Given the description of an element on the screen output the (x, y) to click on. 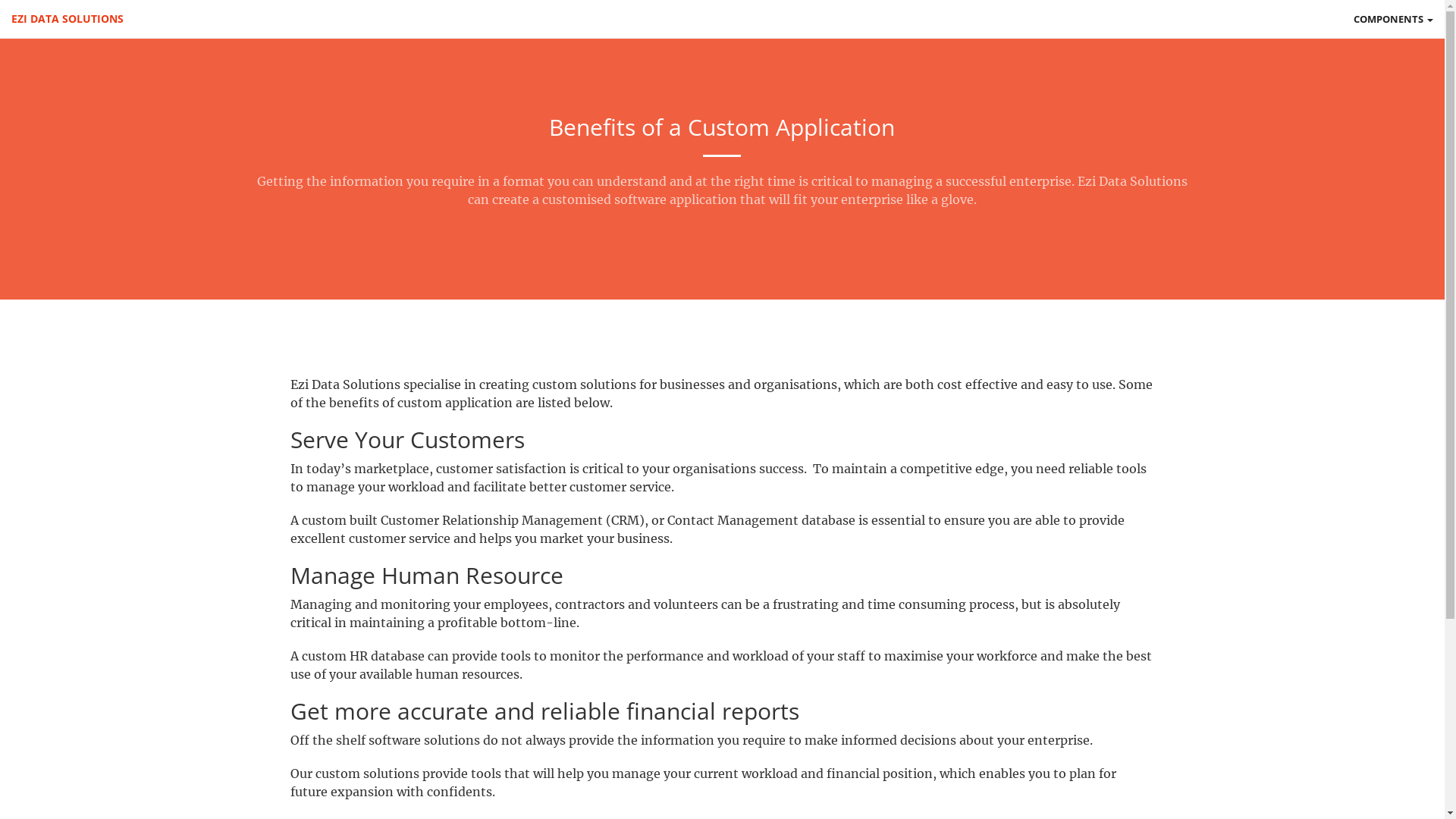
COMPONENTS Element type: text (1393, 18)
EZI DATA SOLUTIONS Element type: text (67, 18)
